Given the description of an element on the screen output the (x, y) to click on. 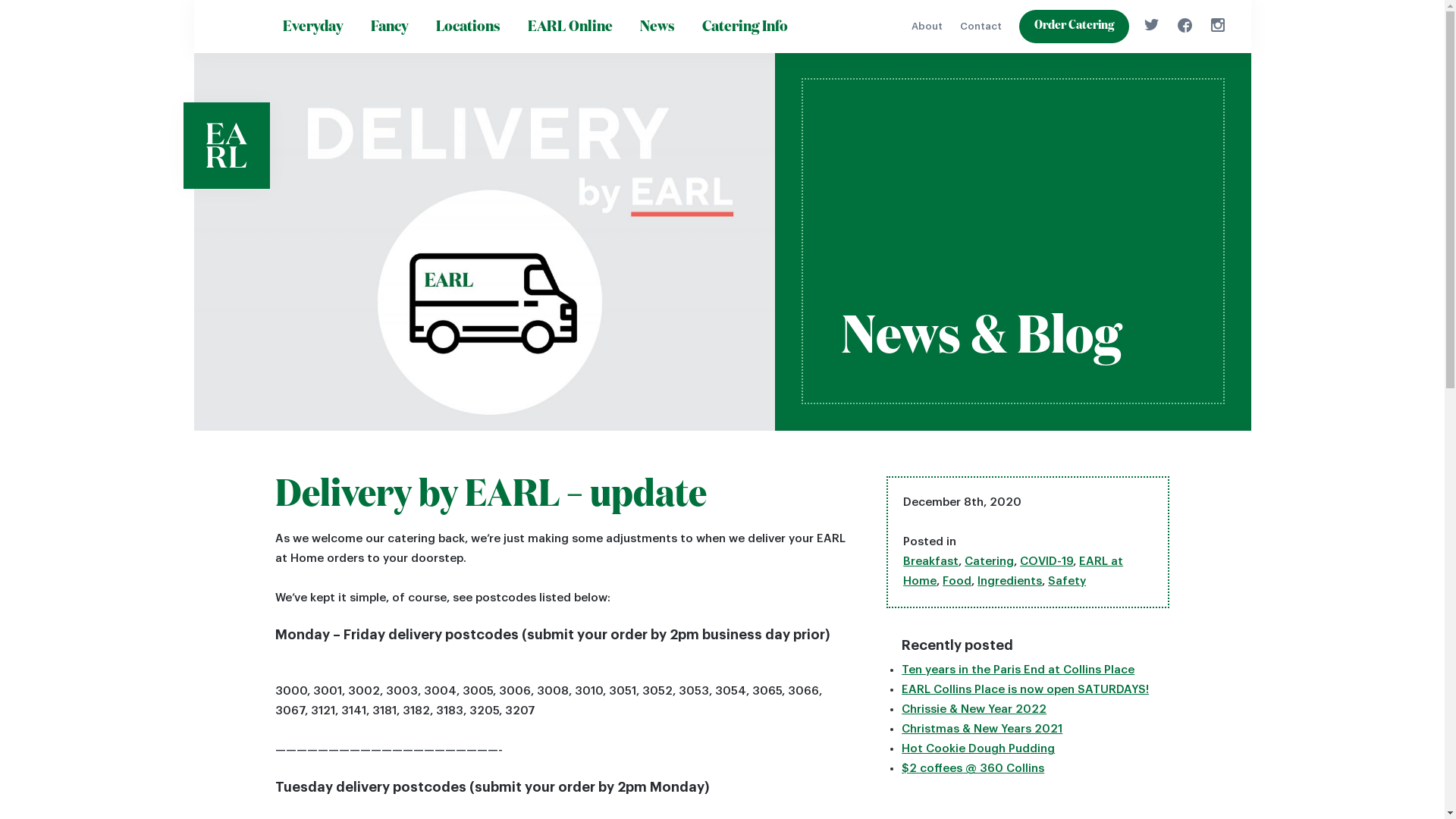
$2 coffees @ 360 Collins Element type: text (972, 768)
Follow us on Twitter Element type: hover (1150, 24)
Breakfast Element type: text (930, 561)
EARL Online Element type: text (570, 26)
About Element type: text (926, 26)
Catering Element type: text (988, 561)
Christmas & New Years 2021 Element type: text (981, 728)
Locations Element type: text (467, 26)
EARL Collins Place is now open SATURDAYS! Element type: text (1024, 689)
COVID-19 Element type: text (1046, 561)
Chrissie & New Year 2022 Element type: text (973, 709)
Order Catering Element type: text (1074, 26)
News Element type: text (657, 26)
Fancy Element type: text (388, 26)
Everyday Element type: text (312, 26)
Ingredients Element type: text (1009, 580)
Like us on Facebook Element type: hover (1184, 24)
Food Element type: text (956, 580)
Safety Element type: text (1066, 580)
Catering Info Element type: text (744, 26)
Ten years in the Paris End at Collins Place Element type: text (1017, 669)
EARL at Home Element type: text (1013, 570)
Follow us on Instagram Element type: hover (1216, 24)
Hot Cookie Dough Pudding Element type: text (977, 748)
Contact Element type: text (980, 26)
